Given the description of an element on the screen output the (x, y) to click on. 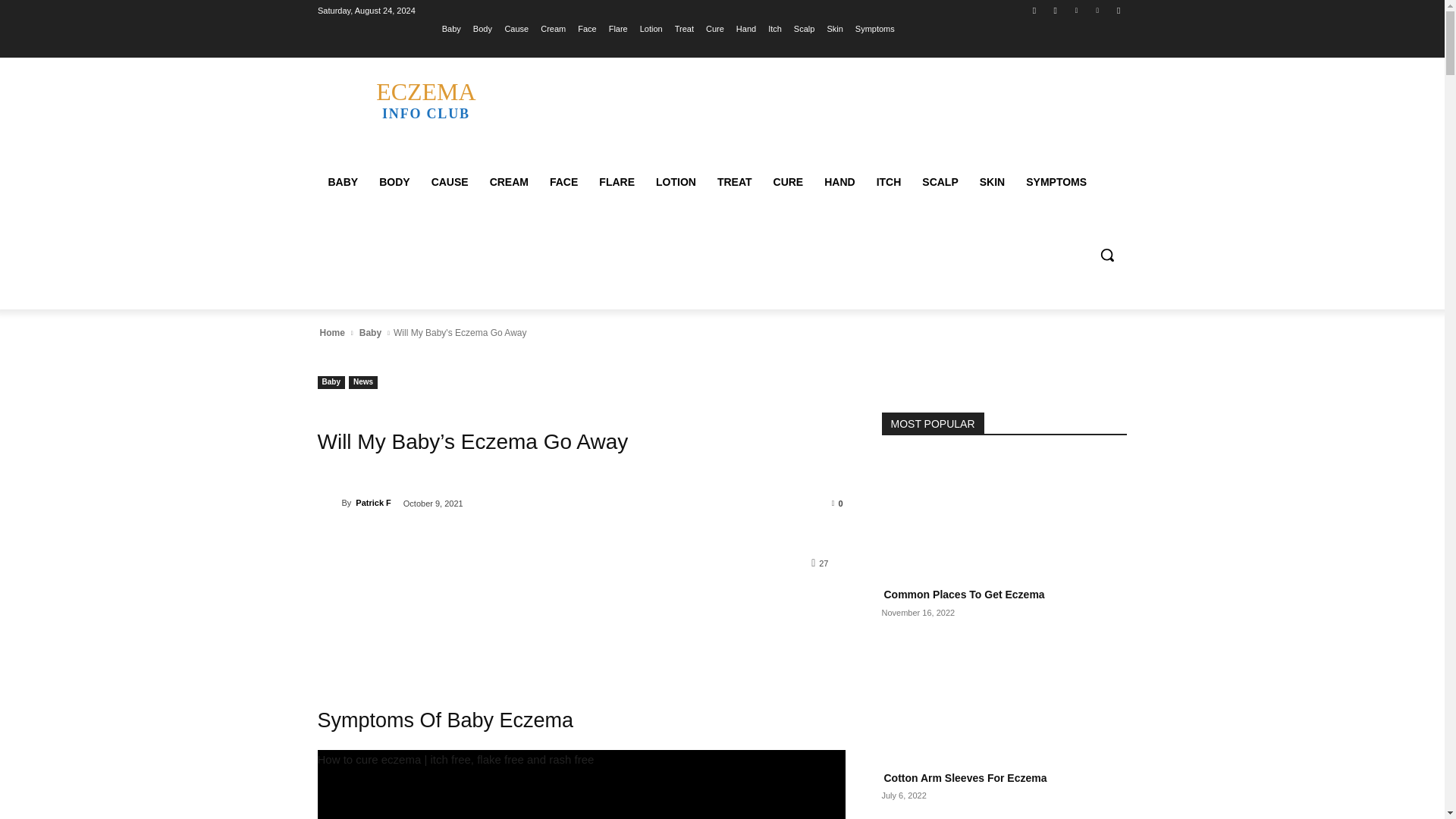
Flare (617, 28)
Patrick F (328, 502)
Facebook (1034, 9)
Body (482, 28)
View all posts in Baby (370, 332)
Symptoms (875, 28)
Treat (684, 28)
Twitter (1075, 9)
Instagram (1055, 9)
Baby (451, 28)
